Given the description of an element on the screen output the (x, y) to click on. 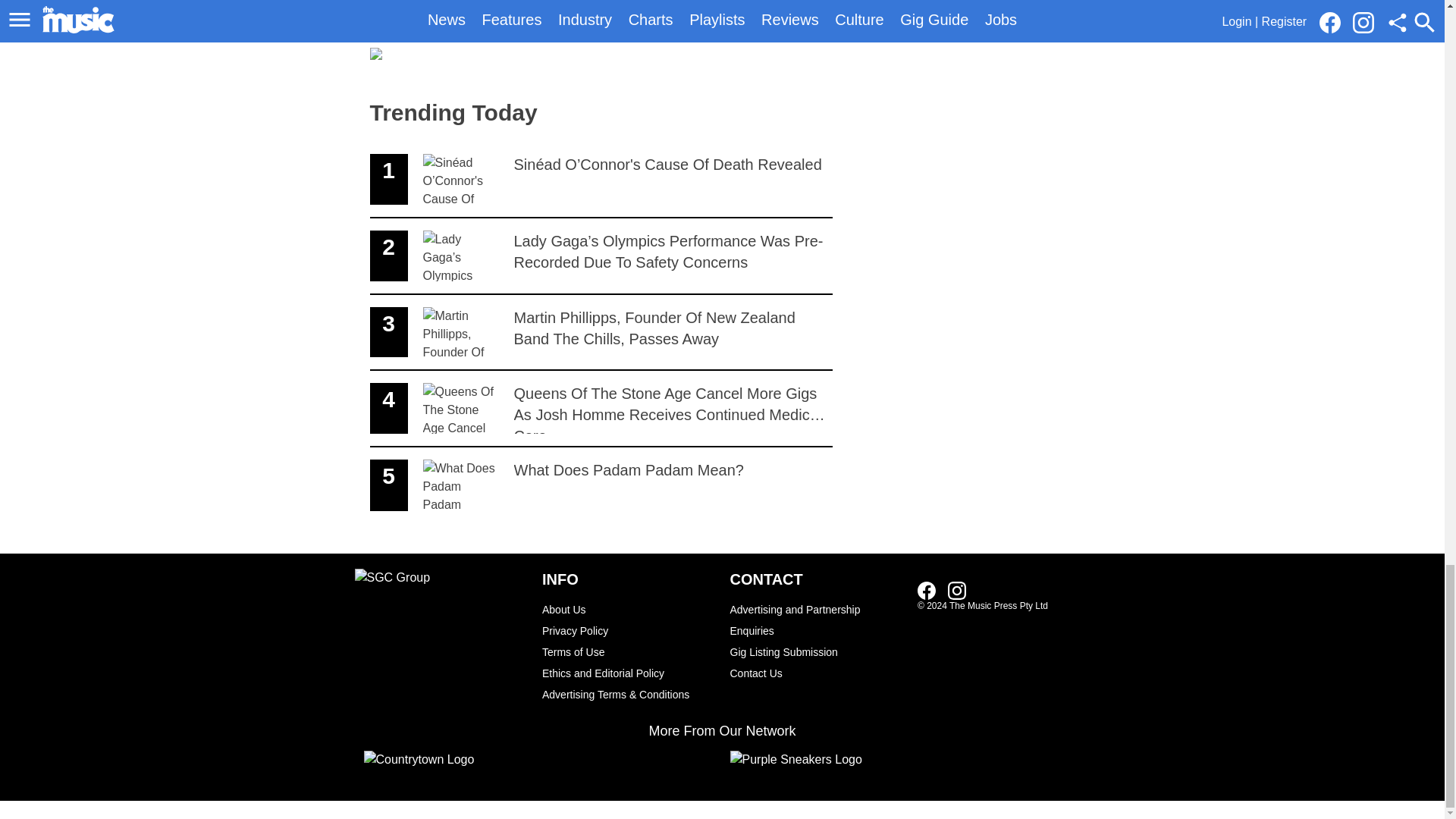
Ethics and Editorial Policy (627, 672)
Terms of Use (627, 651)
About Us (627, 608)
Link to our Instagram (956, 590)
Link to our Facebook (926, 590)
Privacy Policy (627, 630)
